Given the description of an element on the screen output the (x, y) to click on. 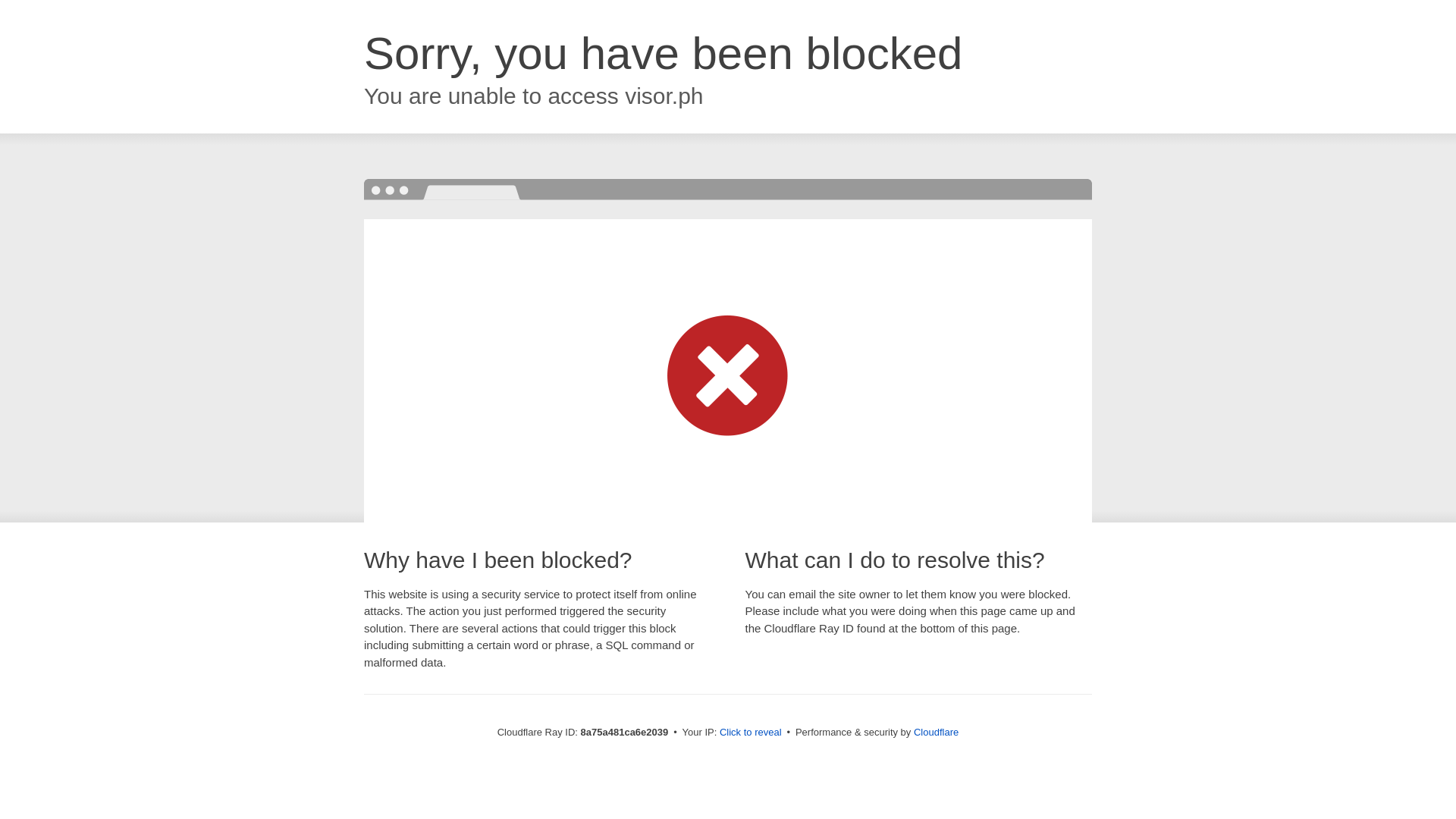
Cloudflare (936, 731)
Click to reveal (750, 732)
